Given the description of an element on the screen output the (x, y) to click on. 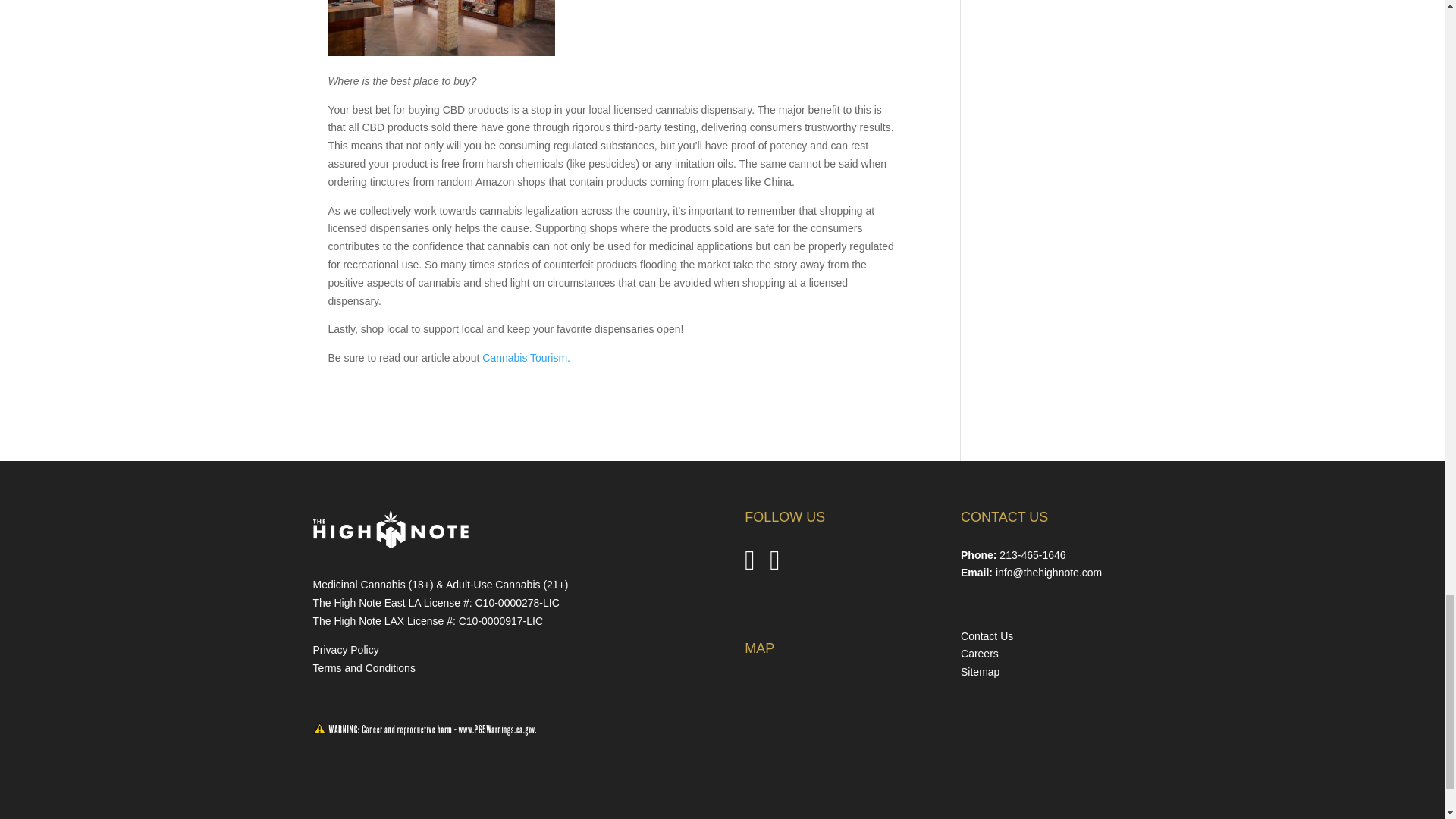
Cannabis Tourism. (525, 357)
